Given the description of an element on the screen output the (x, y) to click on. 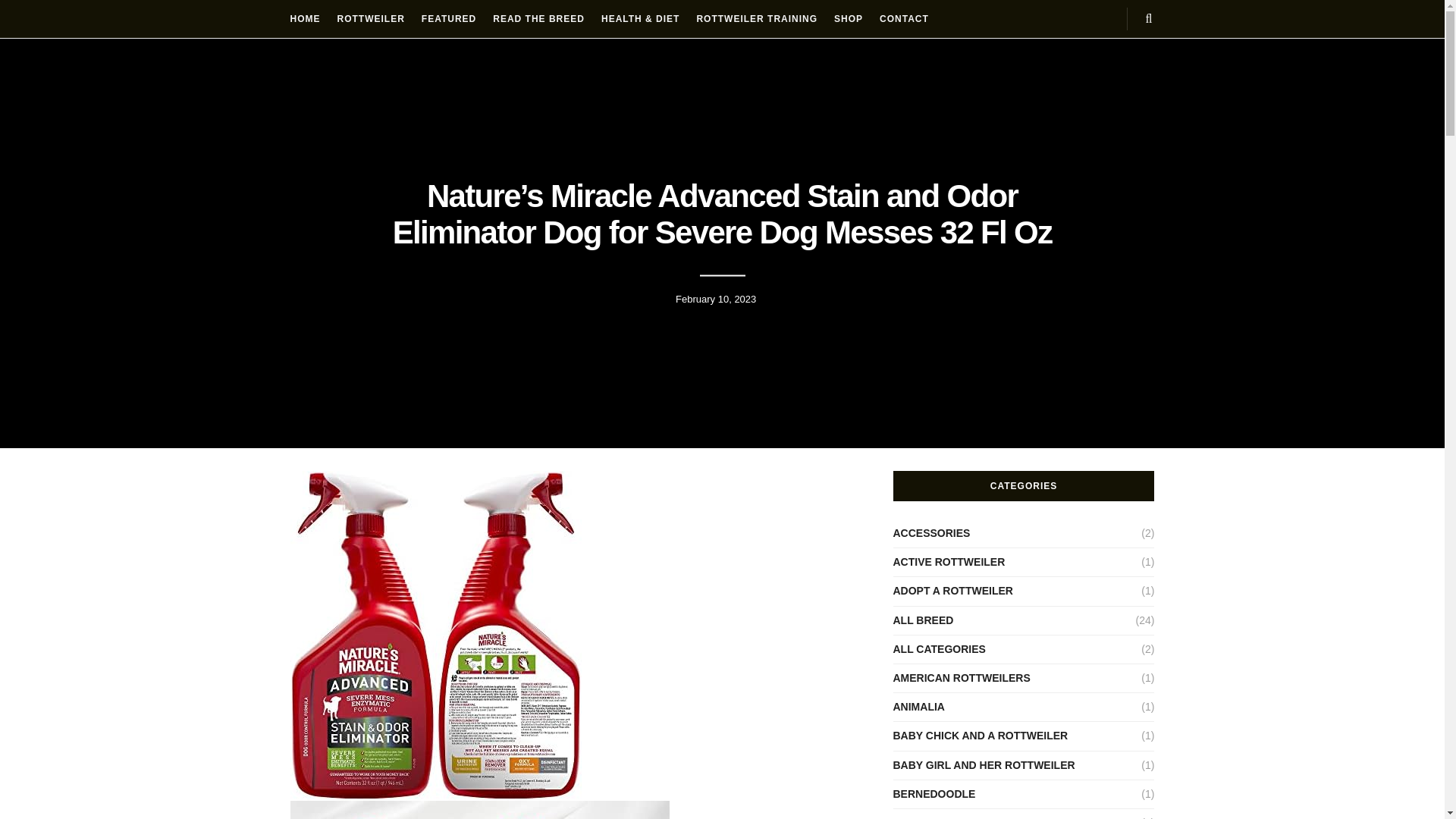
ROTTWEILER (370, 18)
ROTTWEILER TRAINING (755, 18)
CONTACT (903, 18)
February 10, 2023 (715, 298)
FEATURED (449, 18)
READ THE BREED (539, 18)
